Given the description of an element on the screen output the (x, y) to click on. 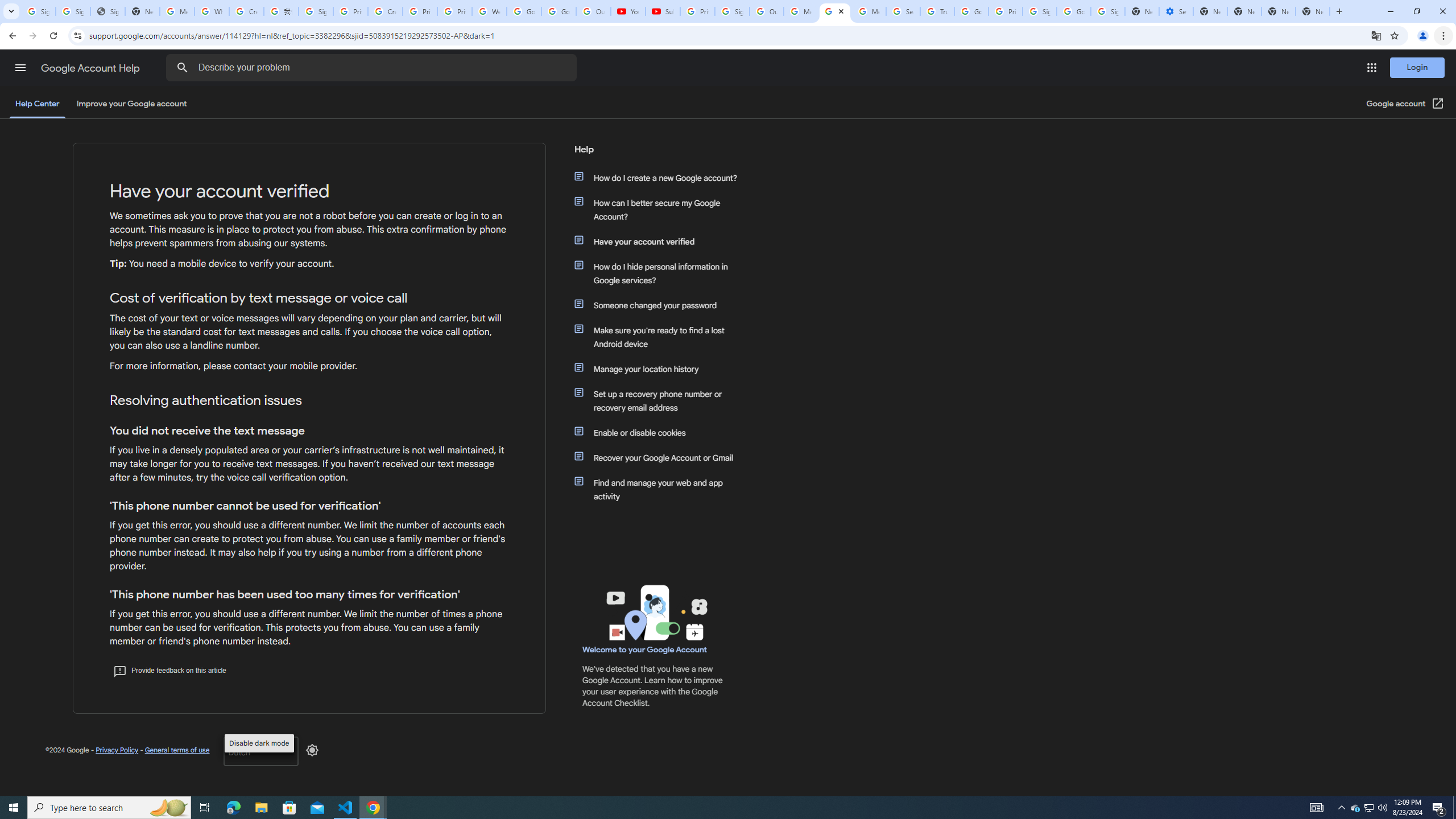
Translate this page (1376, 35)
Welcome to My Activity (489, 11)
Someone changed your password (661, 305)
